Given the description of an element on the screen output the (x, y) to click on. 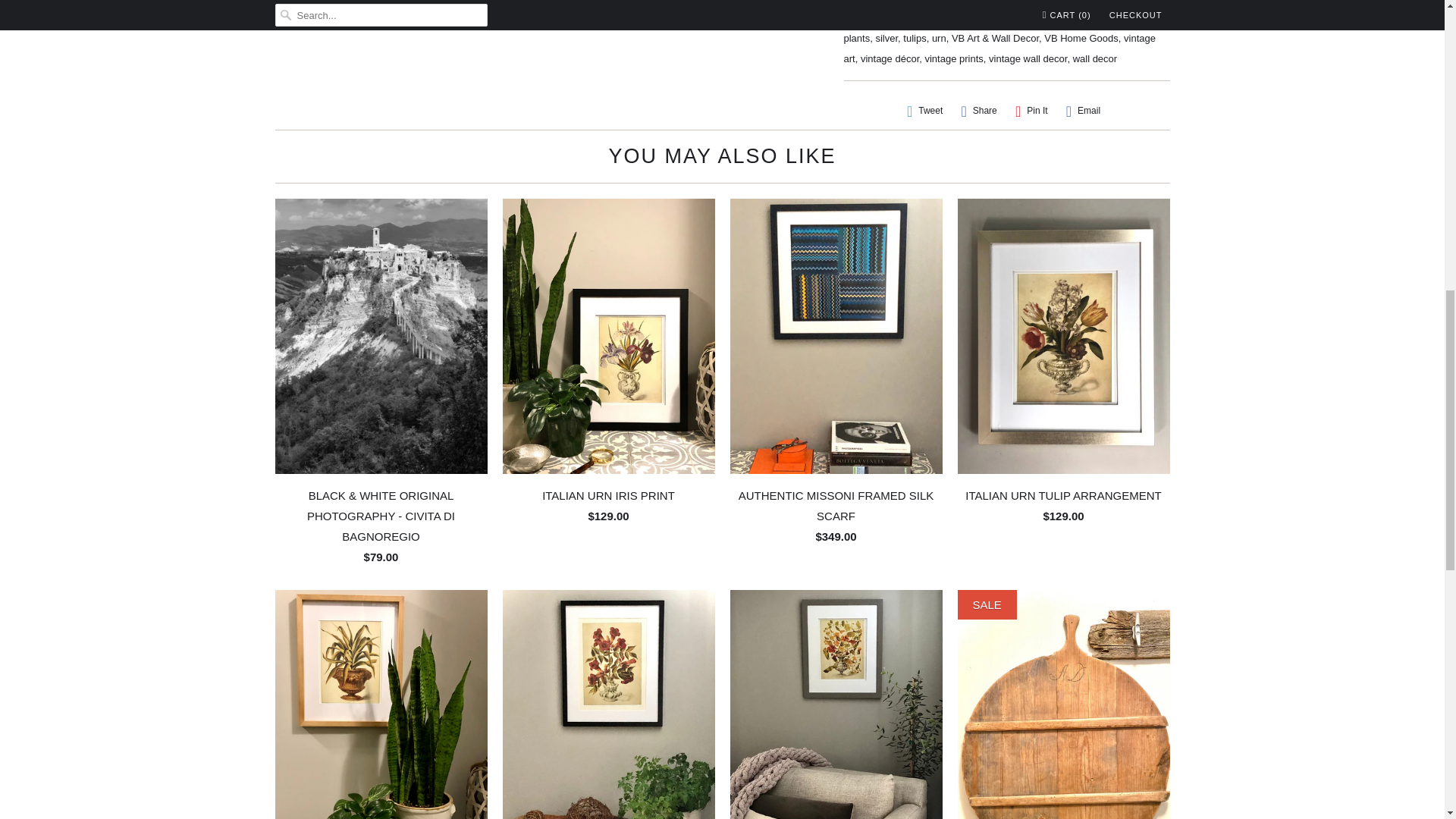
Products tagged home goods (985, 1)
Products tagged Italian wall decor (879, 17)
Products tagged garnet (856, 1)
VINTAGE ITALIAN TULIP URN PRINT (581, 9)
Products tagged Italian floral print (1053, 1)
Products tagged gold (886, 1)
Products tagged Italian urn print (1128, 1)
